Given the description of an element on the screen output the (x, y) to click on. 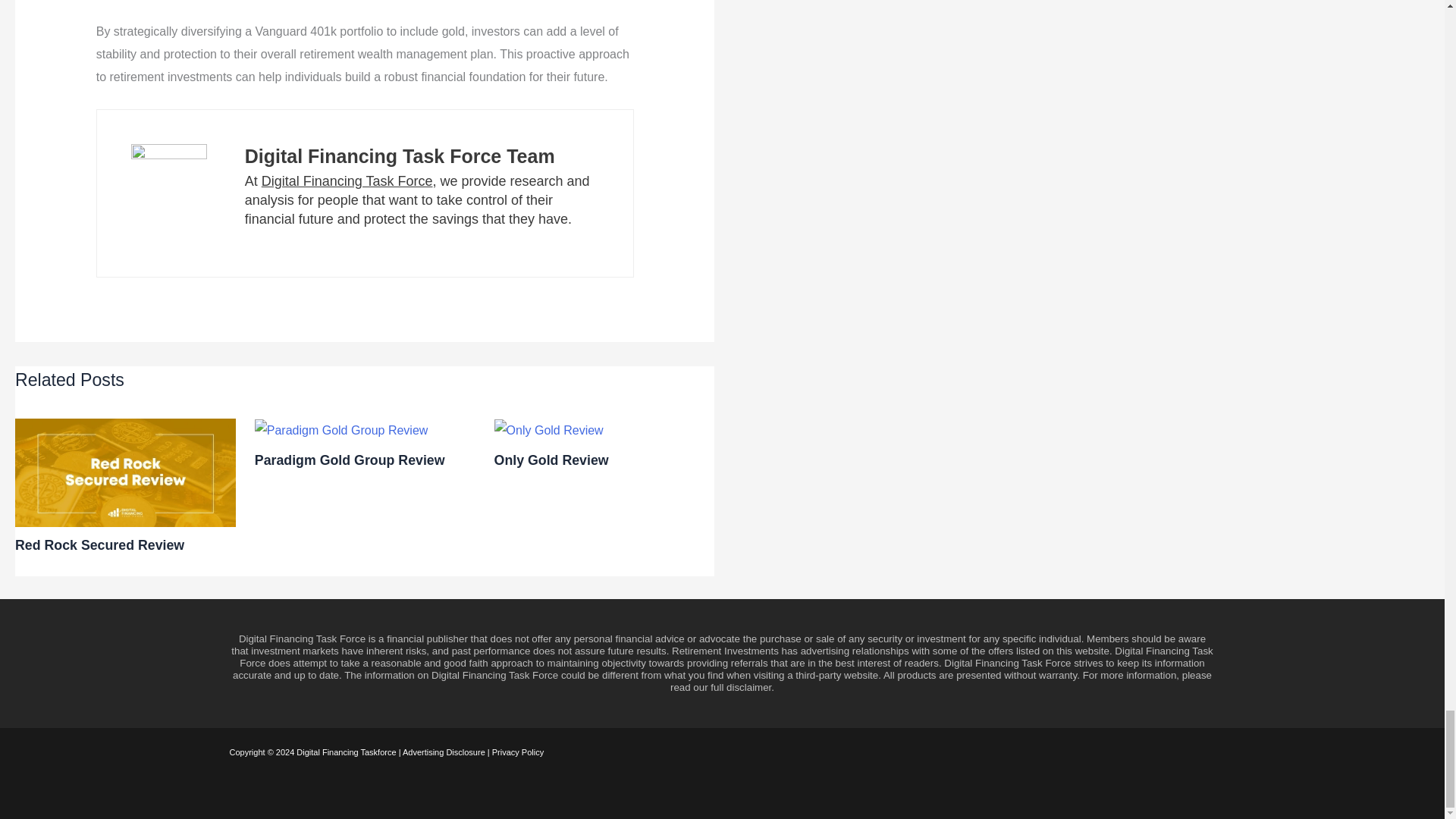
Red Rock Secured Review (99, 544)
Digital Financing Task Force Team (399, 156)
Digital Financing Task Force (347, 181)
Only Gold Review (551, 459)
Paradigm Gold Group Review (349, 459)
